Given the description of an element on the screen output the (x, y) to click on. 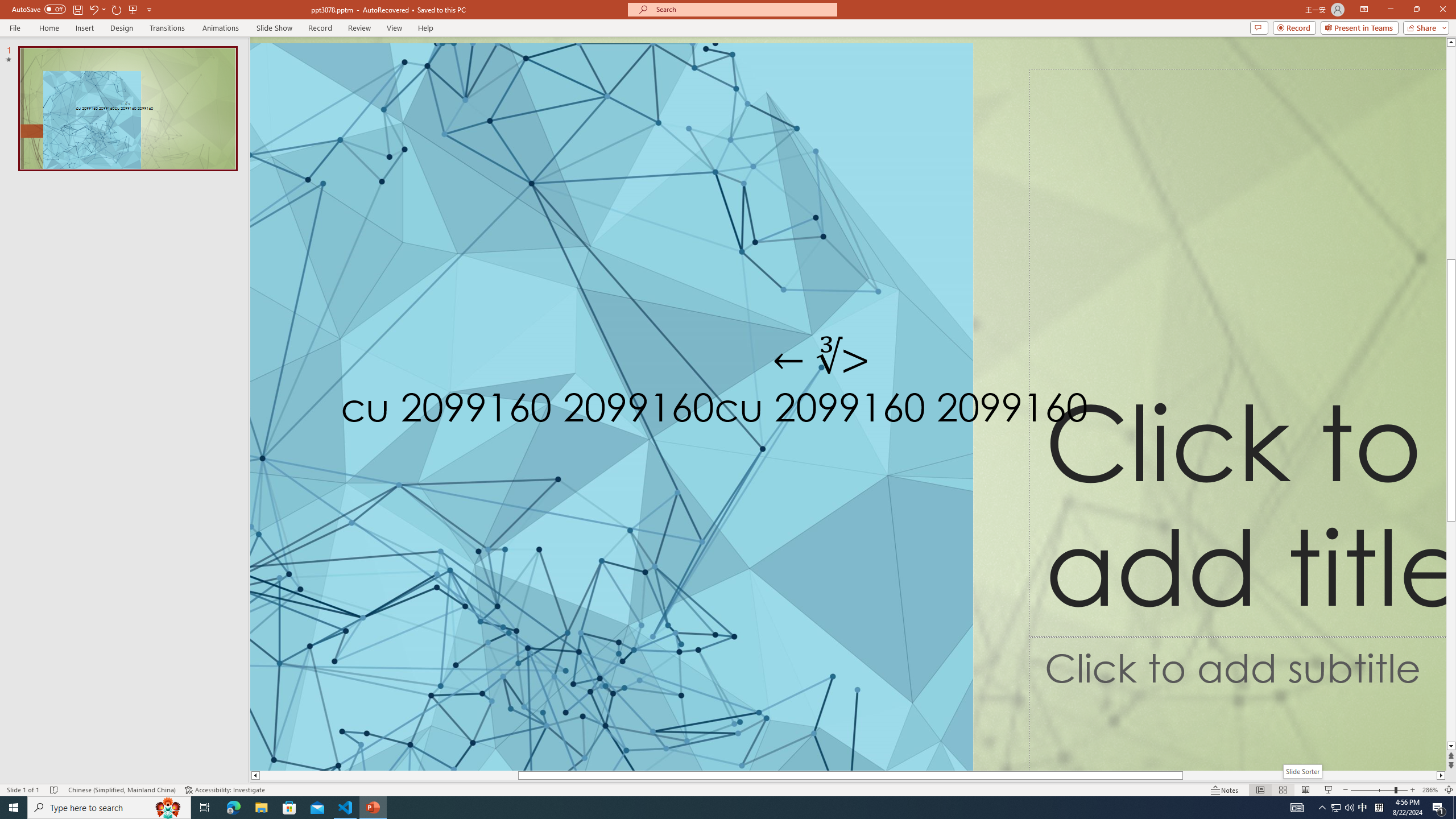
Zoom 286% (1430, 790)
